Given the description of an element on the screen output the (x, y) to click on. 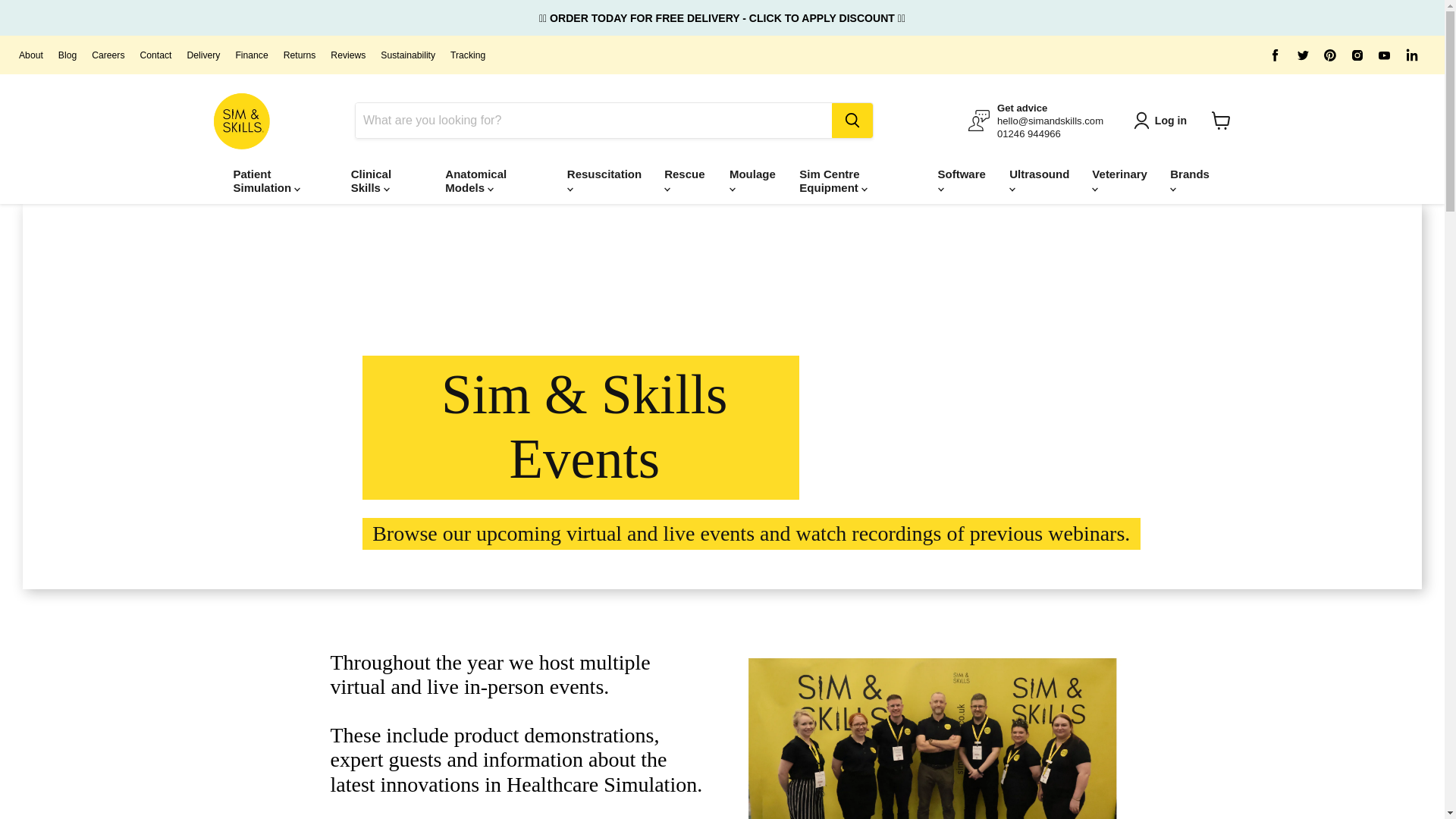
Returns (299, 54)
Tracking (466, 54)
Find us on Facebook (1275, 55)
Find us on Youtube (1384, 55)
Blog (67, 54)
Find us on LinkedIn (1411, 55)
Delivery (202, 54)
Find us on Instagram (1357, 55)
LinkedIn (1411, 55)
Sustainability (407, 54)
